Given the description of an element on the screen output the (x, y) to click on. 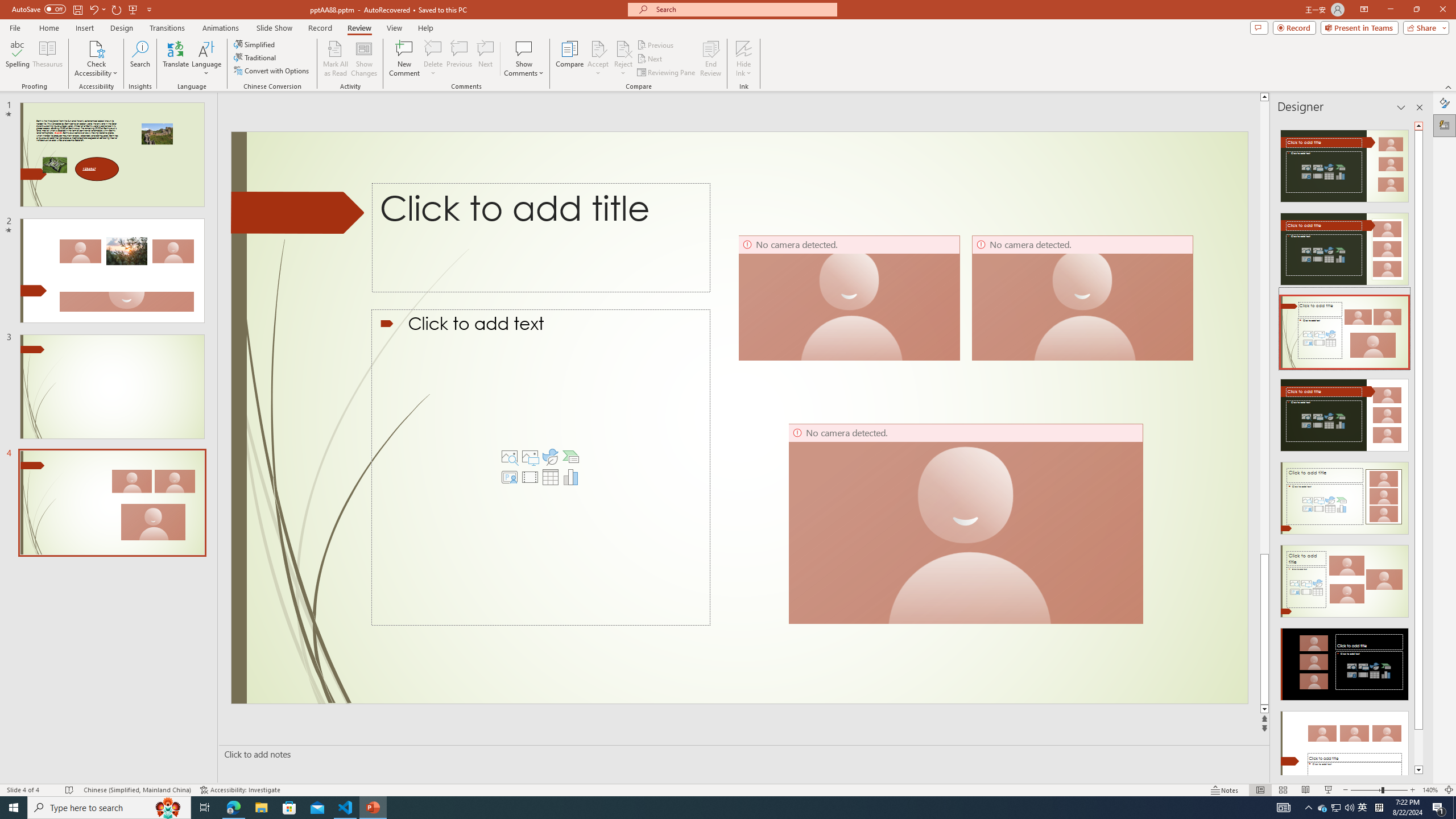
Designer (1444, 125)
Insert an Icon (550, 456)
Spelling... (17, 58)
Pictures (529, 456)
Slide (111, 502)
Line up (1264, 96)
Insert Chart (570, 477)
Insert Cameo (509, 477)
Reject Change (622, 48)
